Given the description of an element on the screen output the (x, y) to click on. 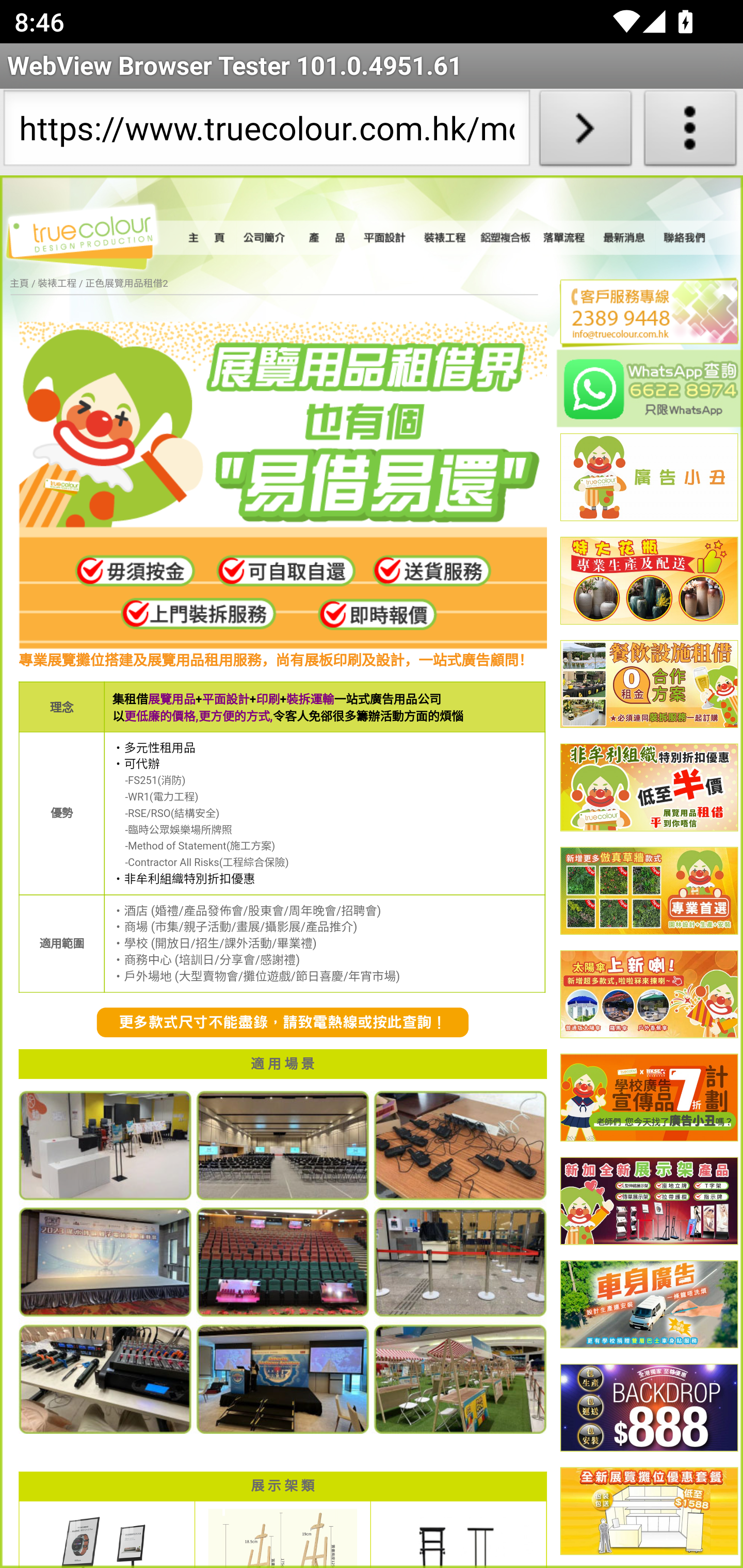
Load URL (585, 132)
About WebView (690, 132)
true colour DESIGN PRODUCTION (92, 234)
主頁 (209, 238)
公司簡介 (266, 238)
產品 (326, 238)
稿件設計 (386, 238)
裝裱工程 (445, 238)
鋁塑板 (505, 238)
落單流程 (564, 238)
最新清息 (624, 238)
聯絡我們 (685, 238)
主頁 (18, 283)
mailto:info@truecolour.com (641, 334)
WhatsApp (649, 388)
%E8%8A%B1%E7%93%B6%E5%B0%8F1 (648, 581)
%E9%A4%90%E9%A3%B2banner%E5%B0%8F (648, 684)
%E9%9D%9E%E7%89%9F%E5%88%A9 (648, 788)
banner-%E5%81%87%E8%8D%89%E6%96%B04 (648, 891)
%E5%A4%AA%E9%99%BD%E5%82%982 (648, 994)
contactus (282, 1022)
banner%E5%AD%B8%E6%A0%A1%E6%96%B0 (648, 1098)
%E5%B1%95%E7%A4%BA%E6%9E%B611 (648, 1201)
banner-%E8%BB%8A%E8%B2%BC1 (648, 1305)
banner-brodrop (648, 1408)
banner-%E5%B1%95%E6%9C%83 (648, 1512)
